Given the description of an element on the screen output the (x, y) to click on. 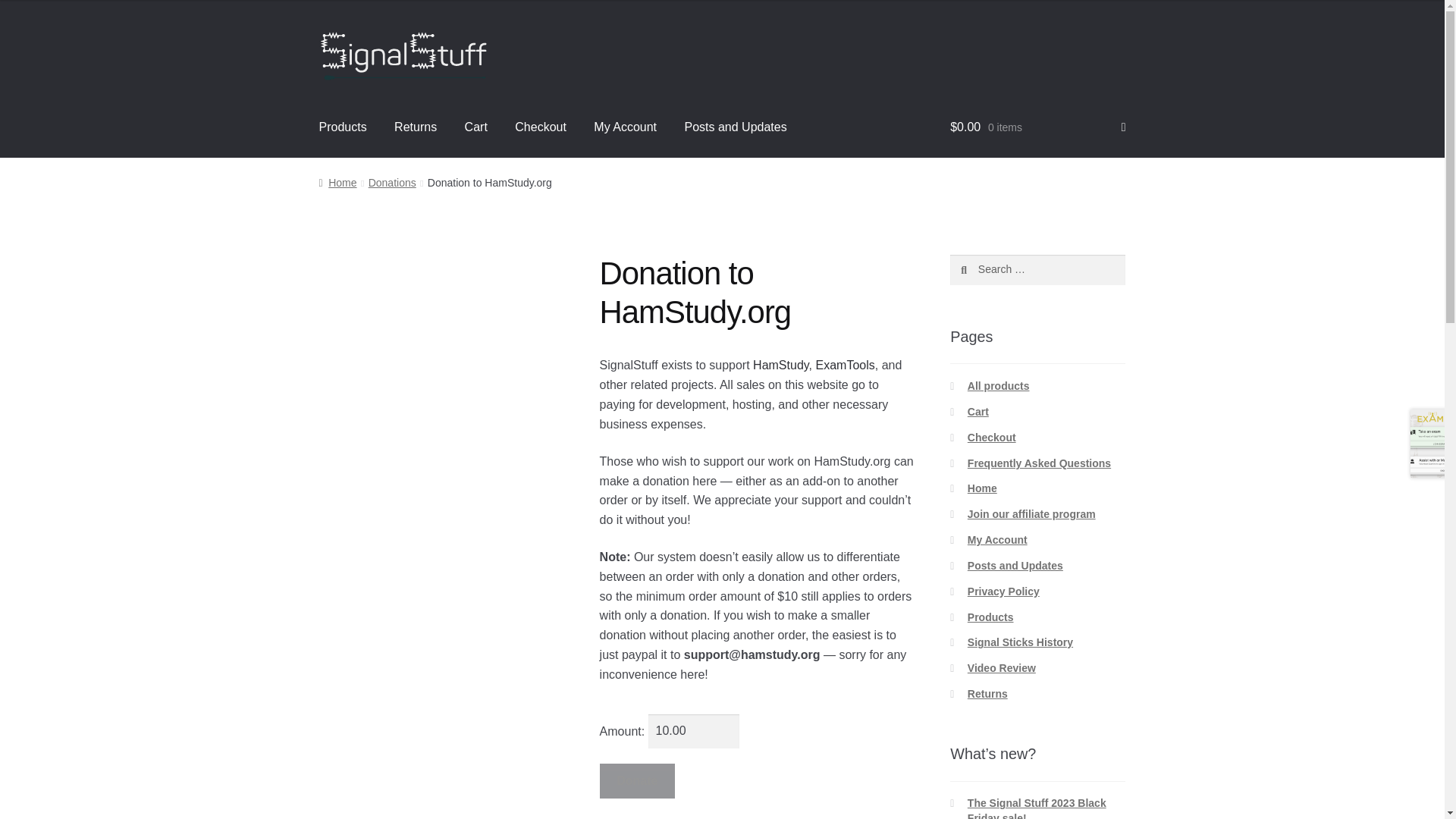
Home (982, 488)
Home (337, 182)
My Account (624, 127)
View your shopping cart (1037, 127)
Frequently Asked Questions (1039, 463)
Checkout (992, 437)
Checkout (540, 127)
Join our affiliate program (1032, 513)
Posts and Updates (734, 127)
